Given the description of an element on the screen output the (x, y) to click on. 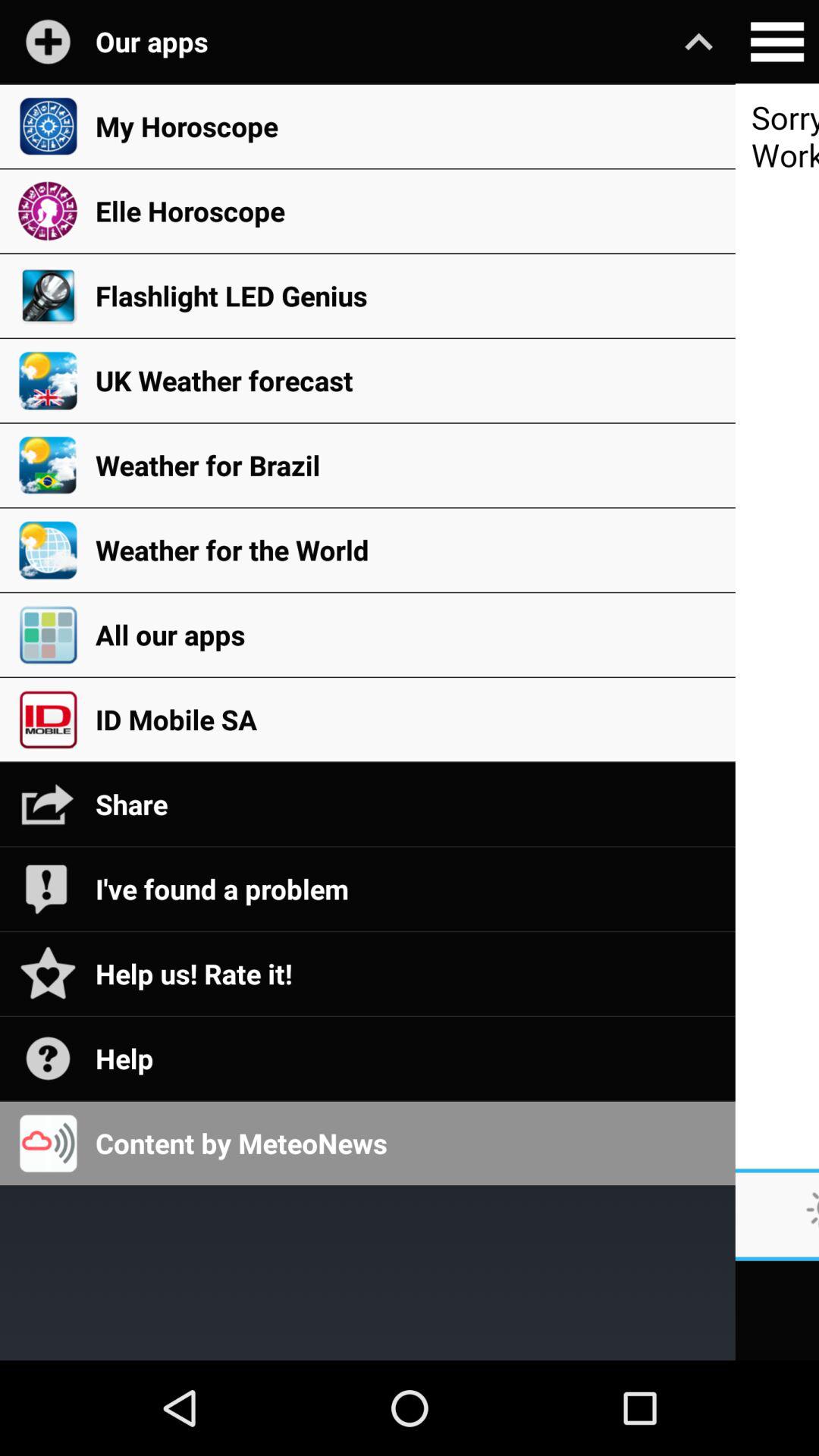
seach (777, 41)
